Given the description of an element on the screen output the (x, y) to click on. 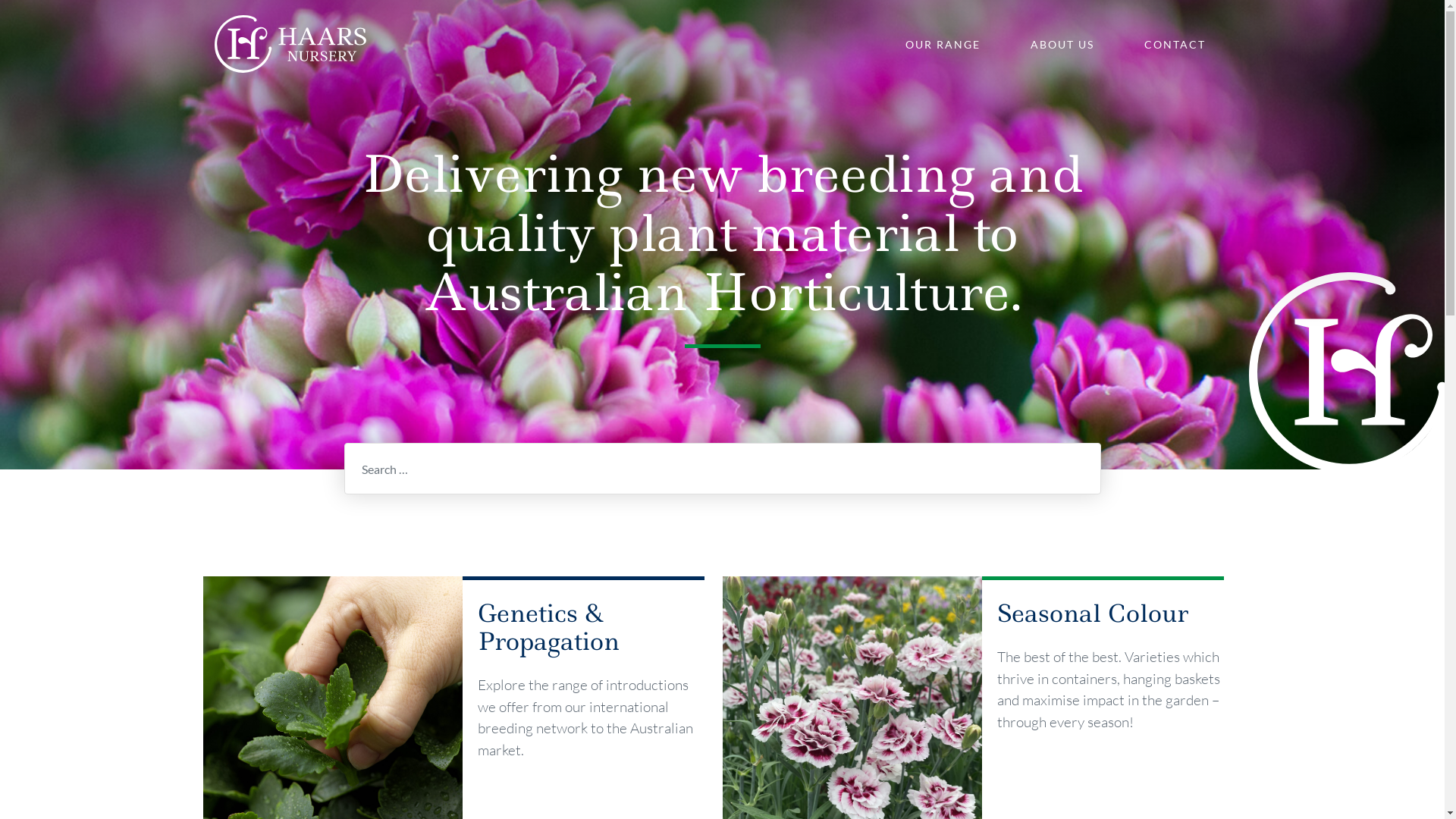
ABOUT US Element type: text (1061, 44)
OUR RANGE Element type: text (942, 44)
CONTACT Element type: text (1174, 44)
